Given the description of an element on the screen output the (x, y) to click on. 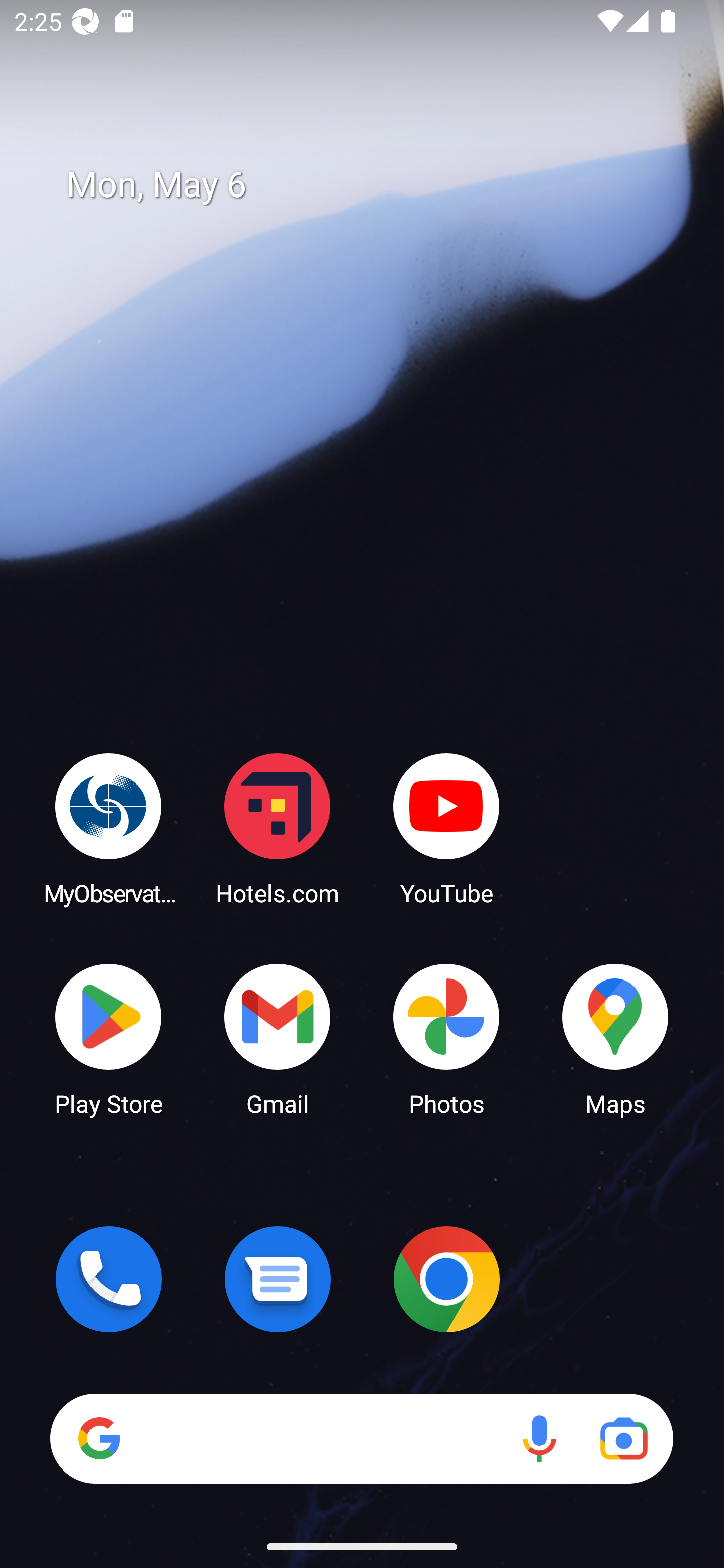
Mon, May 6 (375, 184)
MyObservatory (108, 828)
Hotels.com (277, 828)
YouTube (445, 828)
Play Store (108, 1038)
Gmail (277, 1038)
Photos (445, 1038)
Maps (615, 1038)
Phone (108, 1279)
Messages (277, 1279)
Chrome (446, 1279)
Search Voice search Google Lens (361, 1438)
Voice search (539, 1438)
Google Lens (623, 1438)
